Given the description of an element on the screen output the (x, y) to click on. 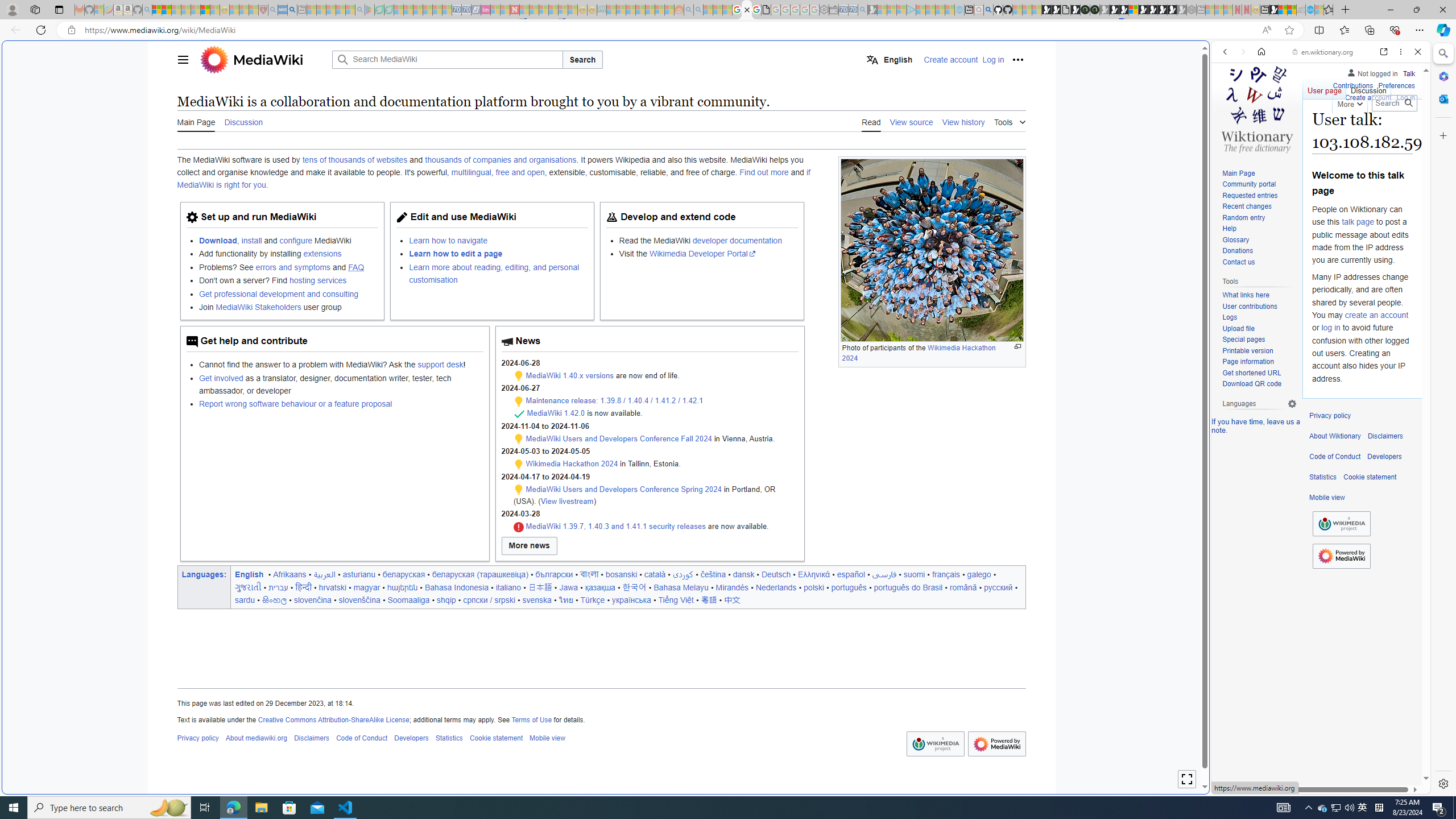
What links here (1259, 295)
Statistics (1322, 477)
Read (870, 121)
Talk (1408, 71)
Log in (1405, 96)
create an account (1376, 314)
configure (296, 239)
Get professional development and consulting (278, 293)
svenska (536, 599)
Soomaaliga (408, 599)
